Given the description of an element on the screen output the (x, y) to click on. 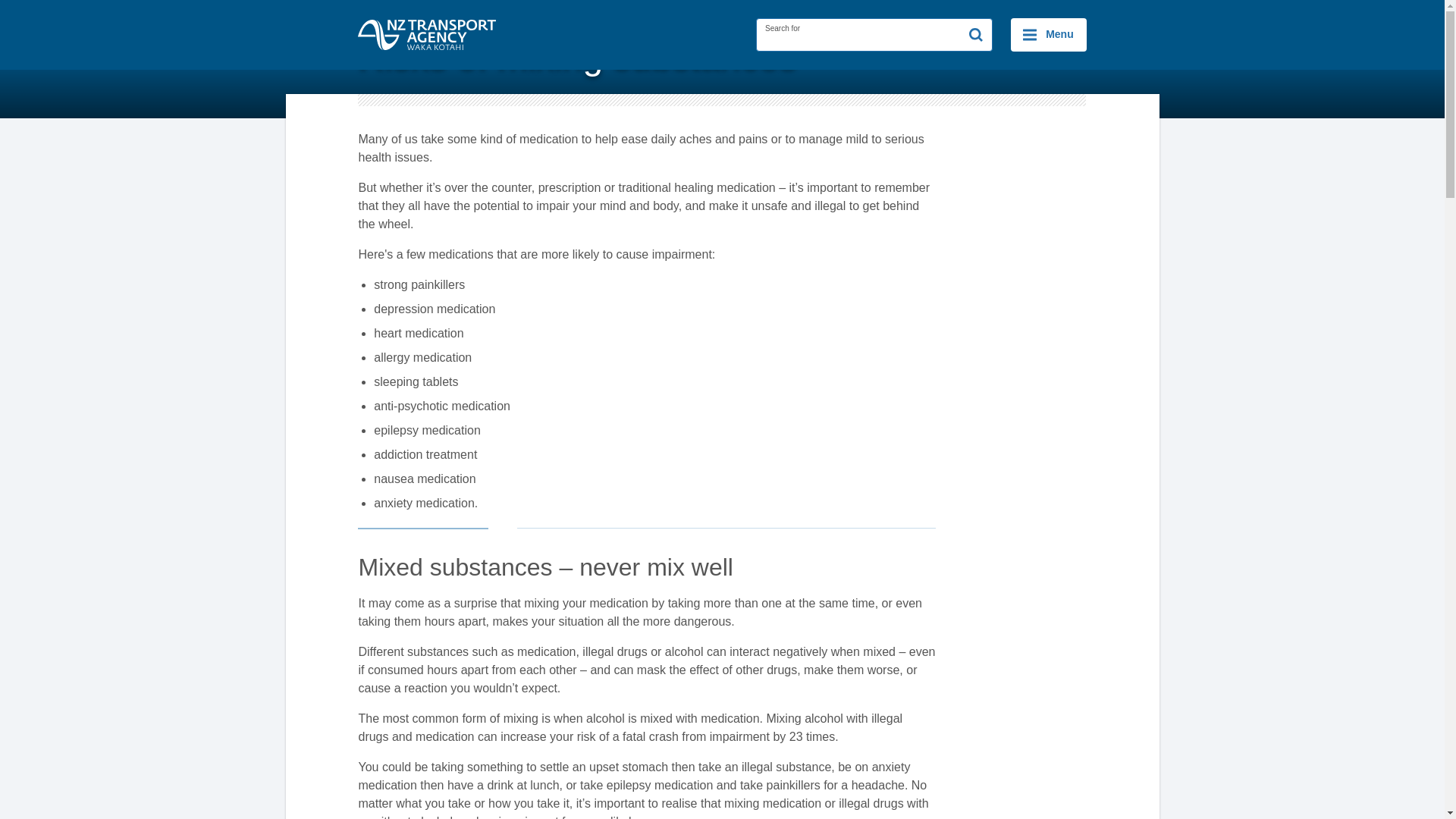
Home (382, 12)
Menu (1048, 34)
NZ Transport Agency Waka Kotahi (427, 34)
